Given the description of an element on the screen output the (x, y) to click on. 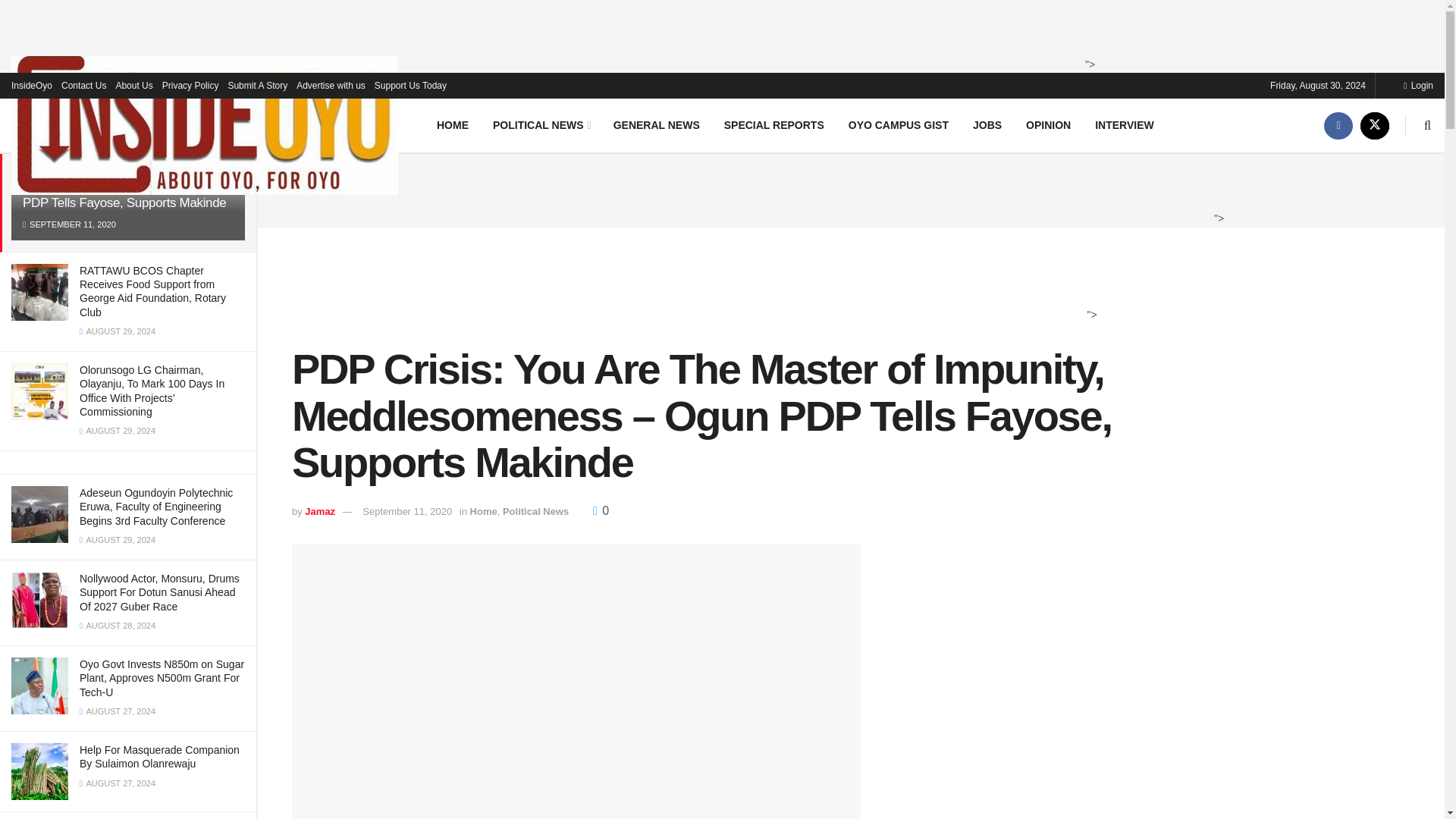
InsideOyo (31, 85)
Contact Us (83, 85)
Help For Masquerade Companion By Sulaimon Olanrewaju (160, 756)
Advertisement (718, 284)
POLITICAL NEWS (540, 125)
HOME (452, 125)
Advertise with us (331, 85)
Advertisement (846, 187)
